Given the description of an element on the screen output the (x, y) to click on. 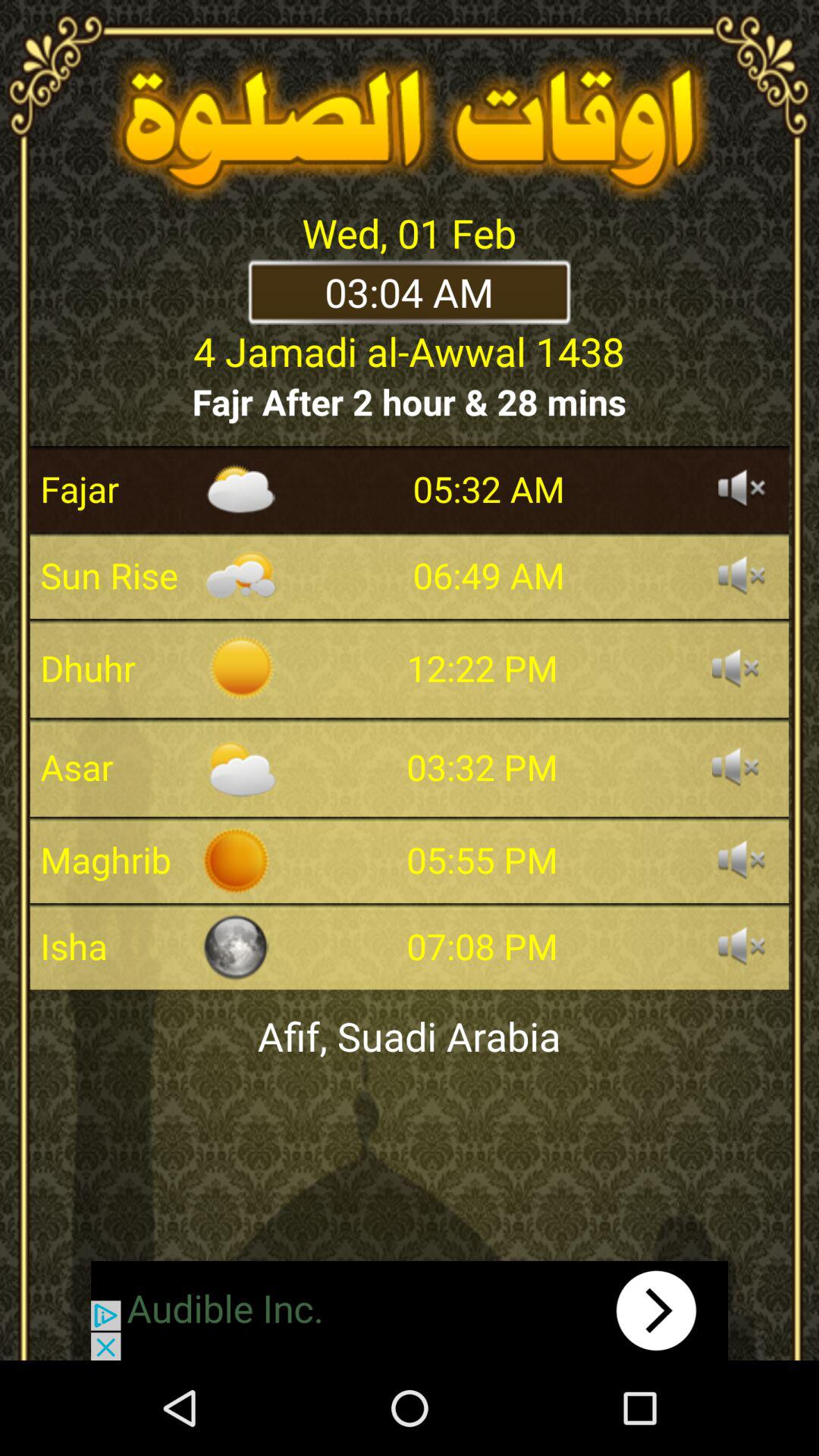
toggle sound (741, 488)
